Given the description of an element on the screen output the (x, y) to click on. 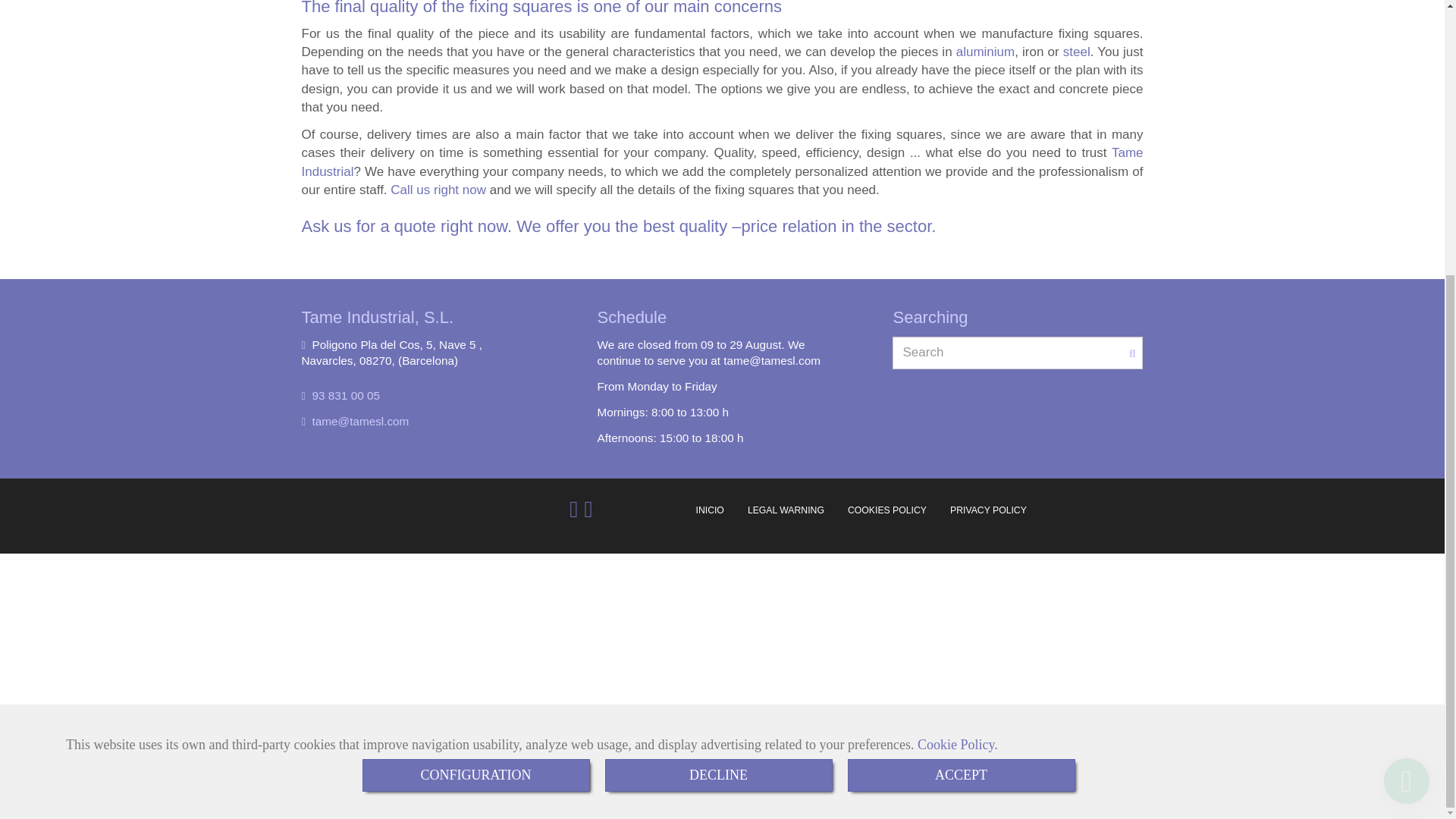
DECLINE (718, 368)
CONFIGURATION (475, 368)
ACCEPT (961, 368)
Cookie Policy (955, 337)
